Given the description of an element on the screen output the (x, y) to click on. 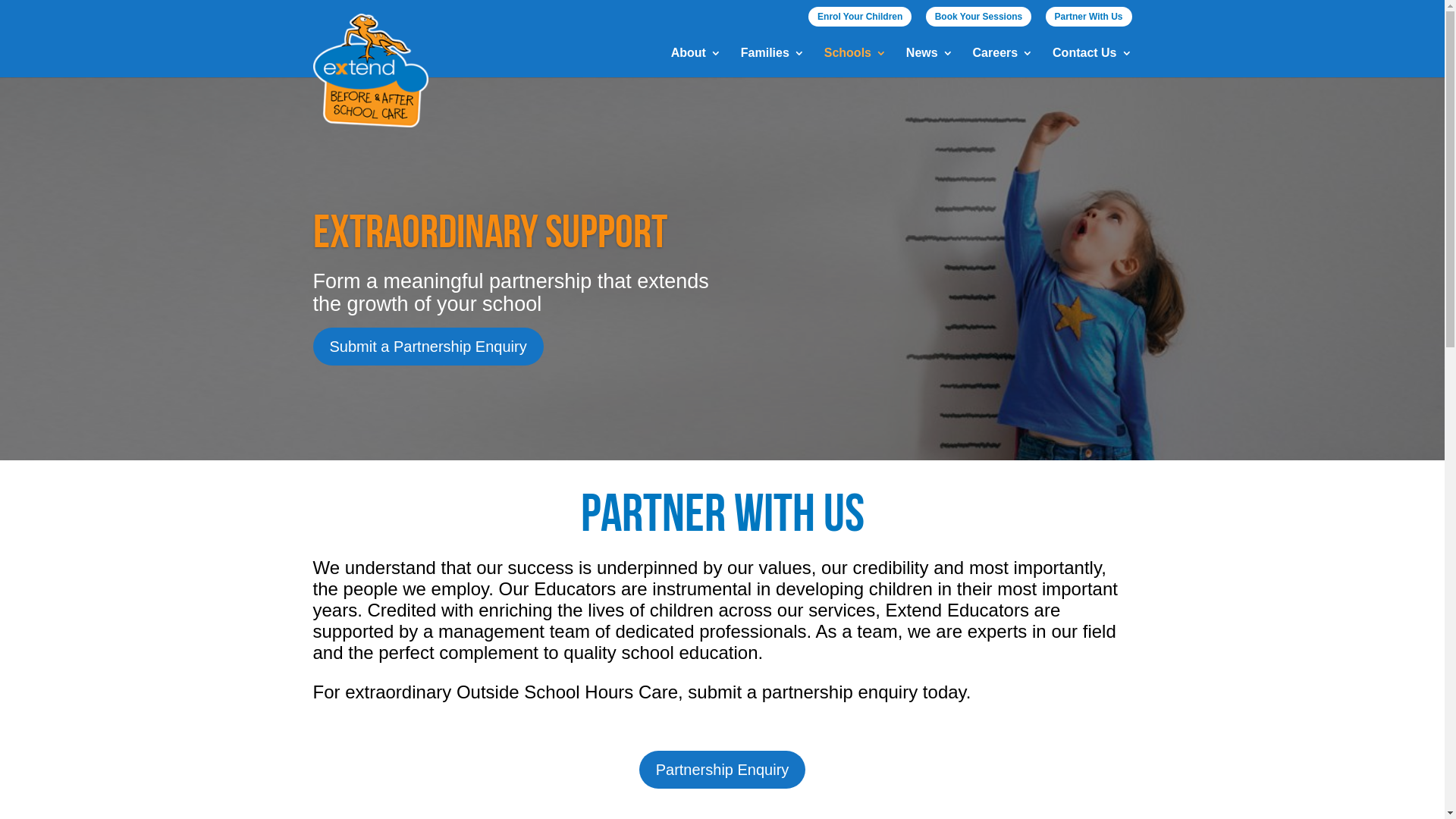
About Element type: text (696, 62)
Book Your Sessions Element type: text (978, 16)
Enrol Your Children Element type: text (859, 16)
Submit a Partnership Enquiry Element type: text (427, 346)
Partner With Us Element type: text (1088, 16)
Partnership Enquiry Element type: text (722, 769)
Contact Us Element type: text (1091, 62)
News Element type: text (929, 62)
Families Element type: text (772, 62)
Schools Element type: text (855, 62)
Careers Element type: text (1002, 62)
